Given the description of an element on the screen output the (x, y) to click on. 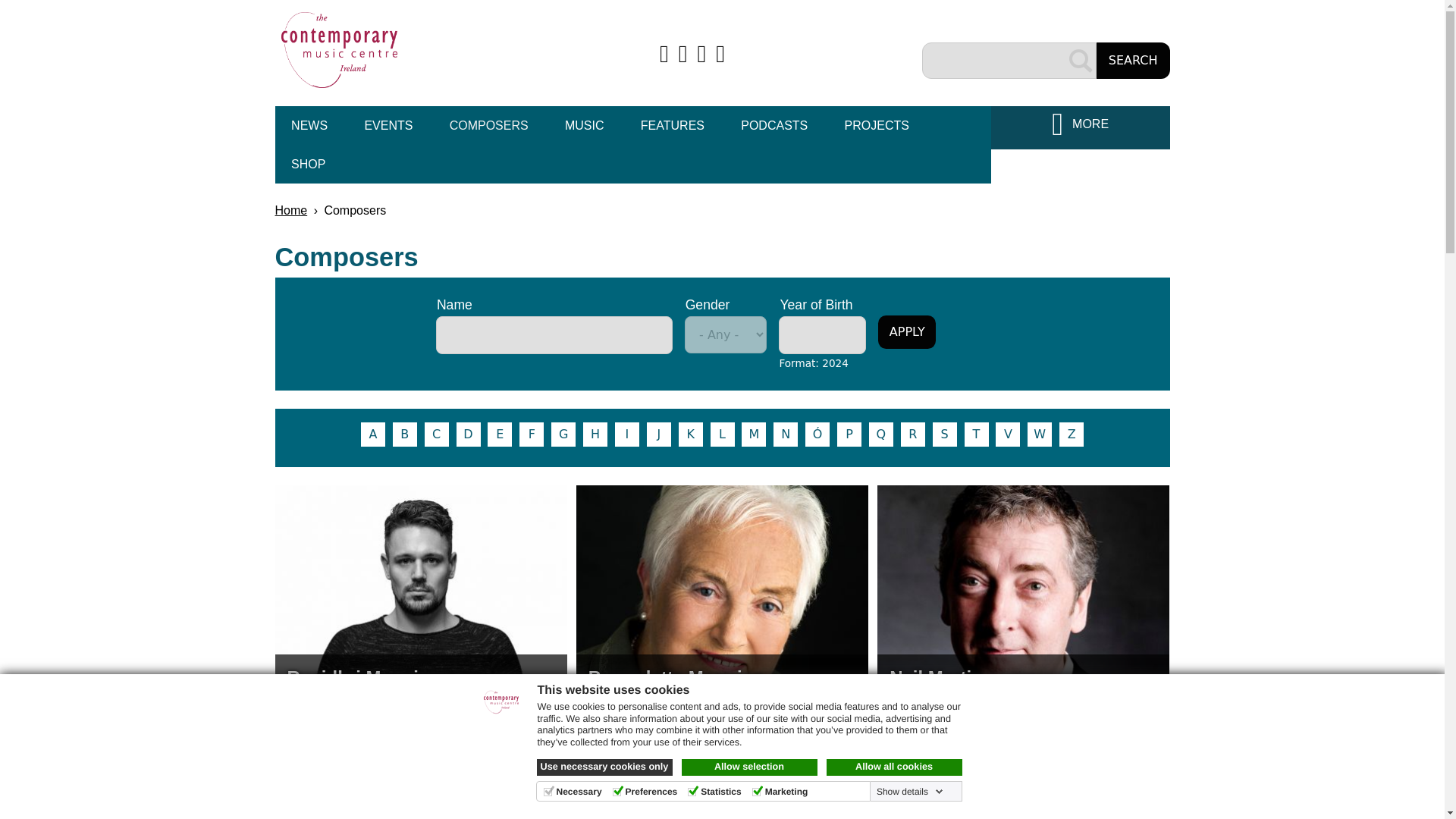
Allow selection (748, 767)
Show details (909, 791)
Use necessary cookies only (604, 767)
Search (1133, 60)
Apply (906, 332)
Allow all cookies (894, 767)
